Given the description of an element on the screen output the (x, y) to click on. 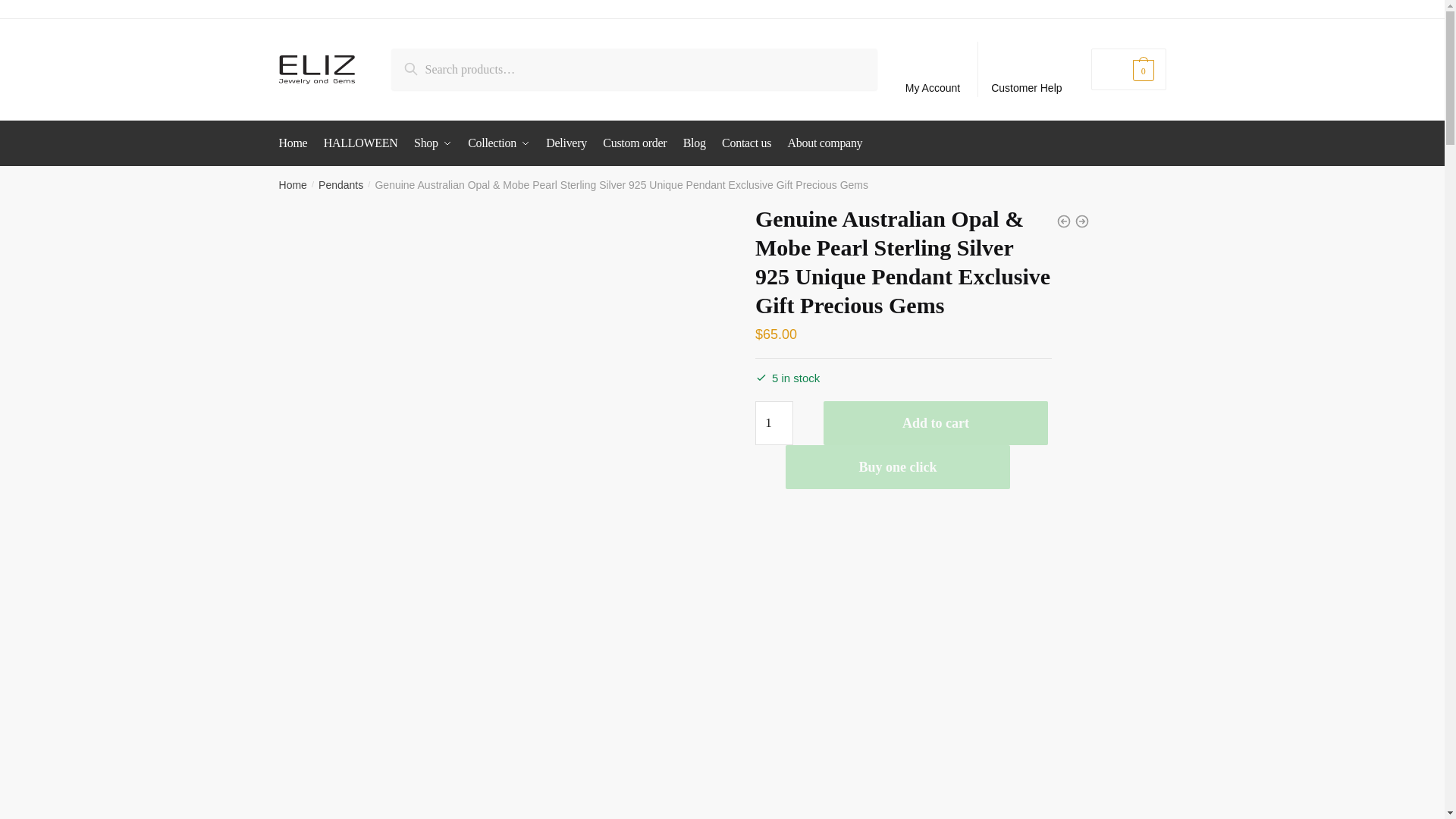
Customer Help (1026, 69)
Search (426, 65)
Delivery (566, 143)
Custom order (634, 143)
My Account (932, 69)
Shop (432, 143)
Collection (498, 143)
HALLOWEEN (360, 143)
View your shopping cart (1128, 69)
